Given the description of an element on the screen output the (x, y) to click on. 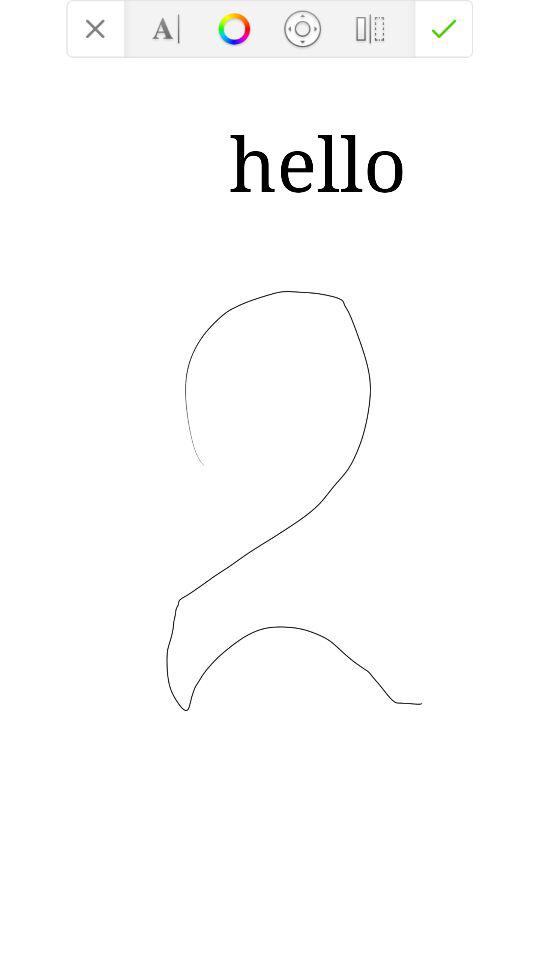
ideas creator symbol (234, 28)
